Given the description of an element on the screen output the (x, y) to click on. 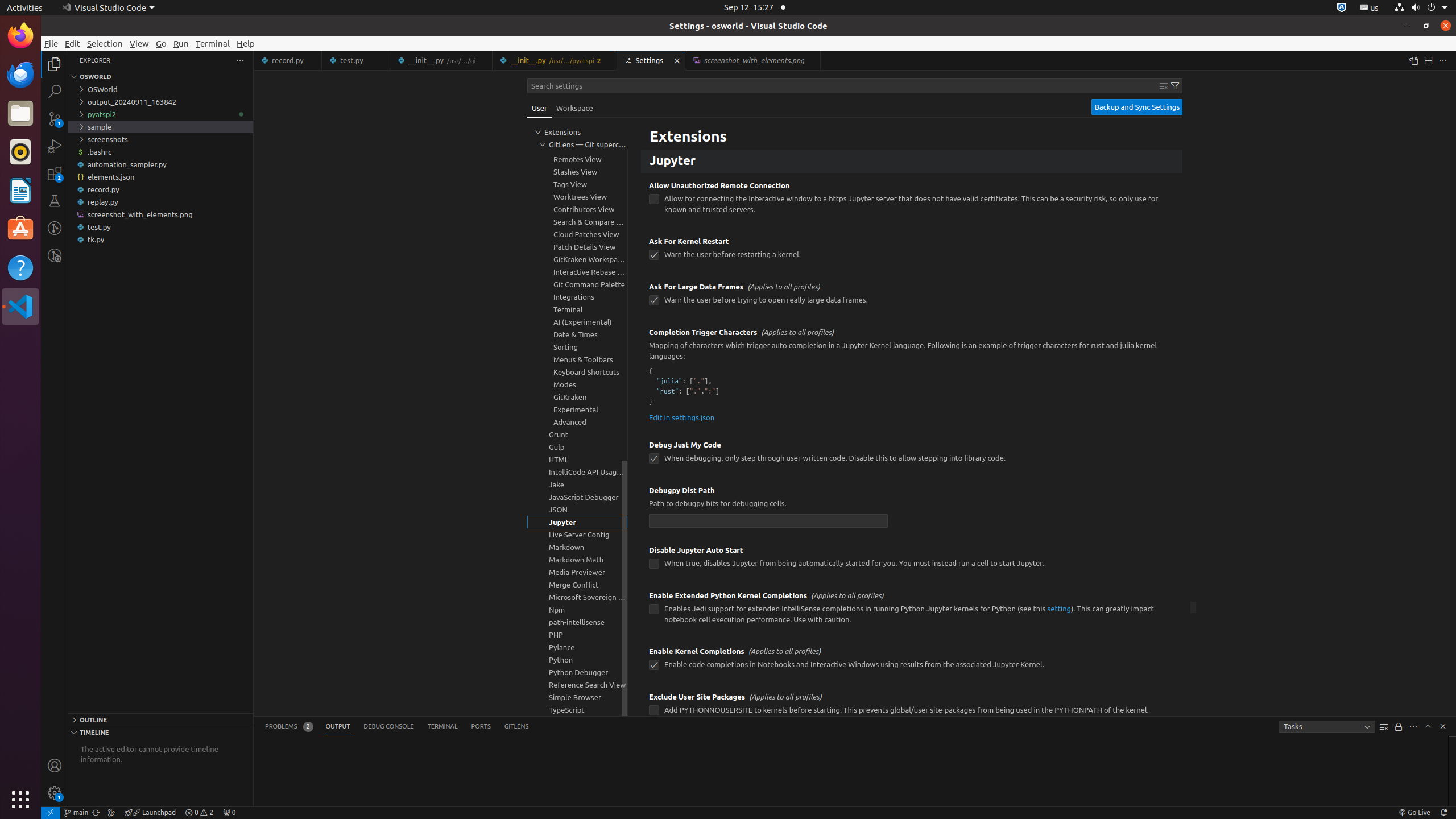
Microsoft Sovereign Cloud, group Element type: tree-item (577, 596)
Git Command Palette, group Element type: tree-item (577, 284)
Go Element type: push-button (161, 43)
Clear Settings Search Input Element type: push-button (1163, 85)
User Element type: check-box (539, 107)
